Given the description of an element on the screen output the (x, y) to click on. 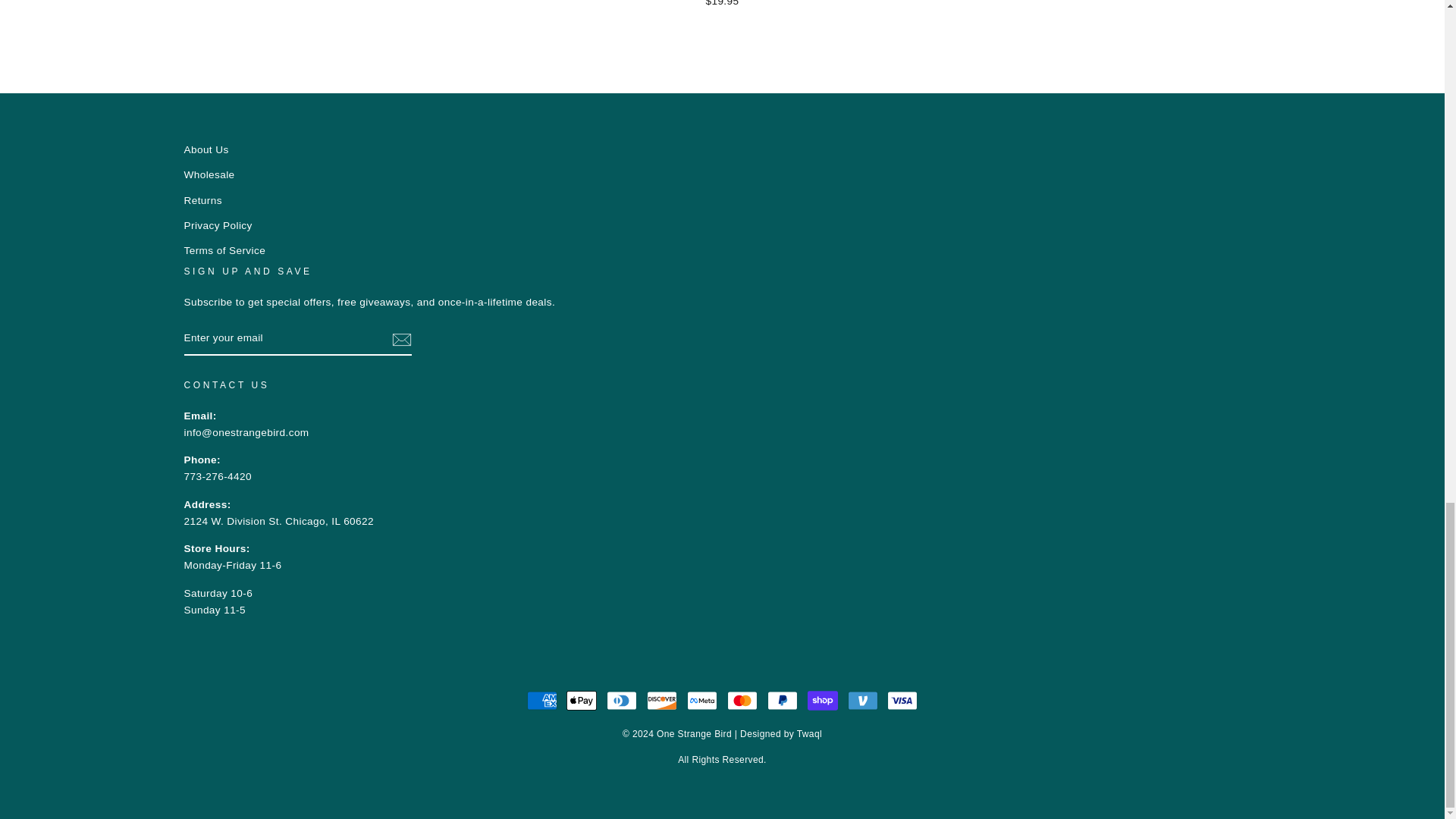
Mastercard (741, 700)
Venmo (862, 700)
Diners Club (622, 700)
Discover (661, 700)
Visa (901, 700)
Shop Pay (823, 700)
Apple Pay (581, 700)
Meta Pay (702, 700)
American Express (542, 700)
PayPal (782, 700)
